Given the description of an element on the screen output the (x, y) to click on. 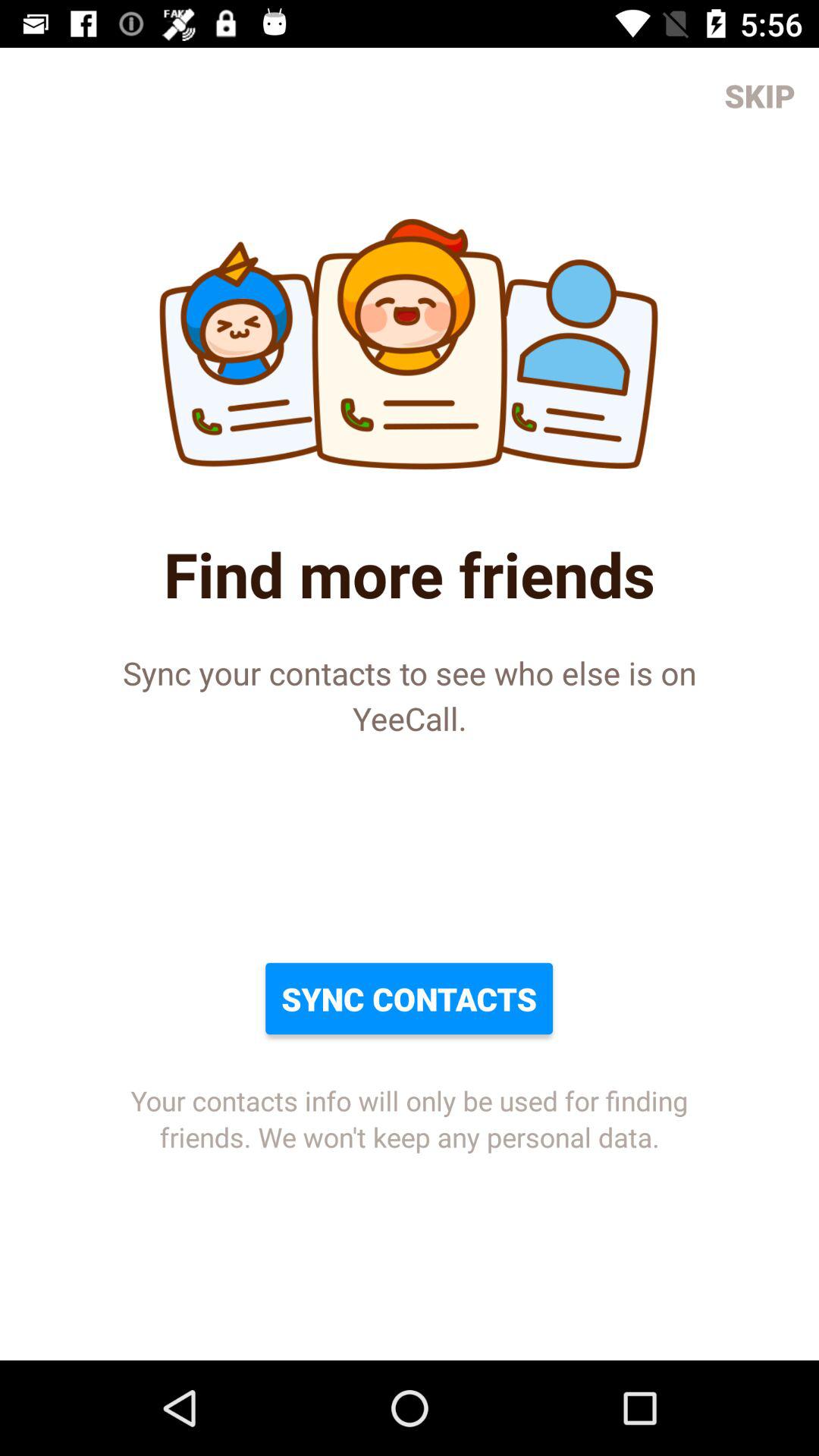
scroll to skip (759, 95)
